Given the description of an element on the screen output the (x, y) to click on. 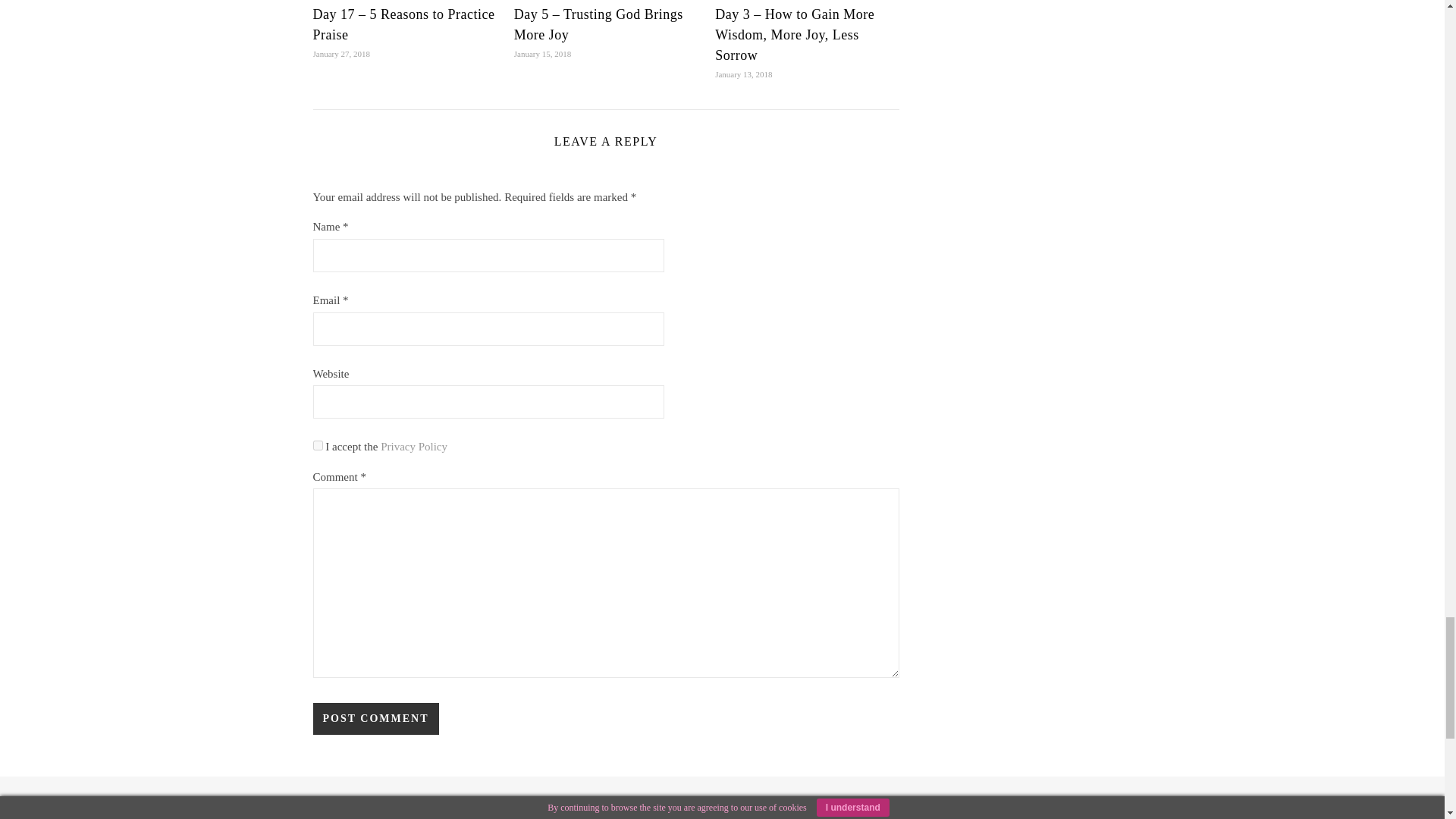
1 (317, 445)
Post Comment (375, 718)
